Given the description of an element on the screen output the (x, y) to click on. 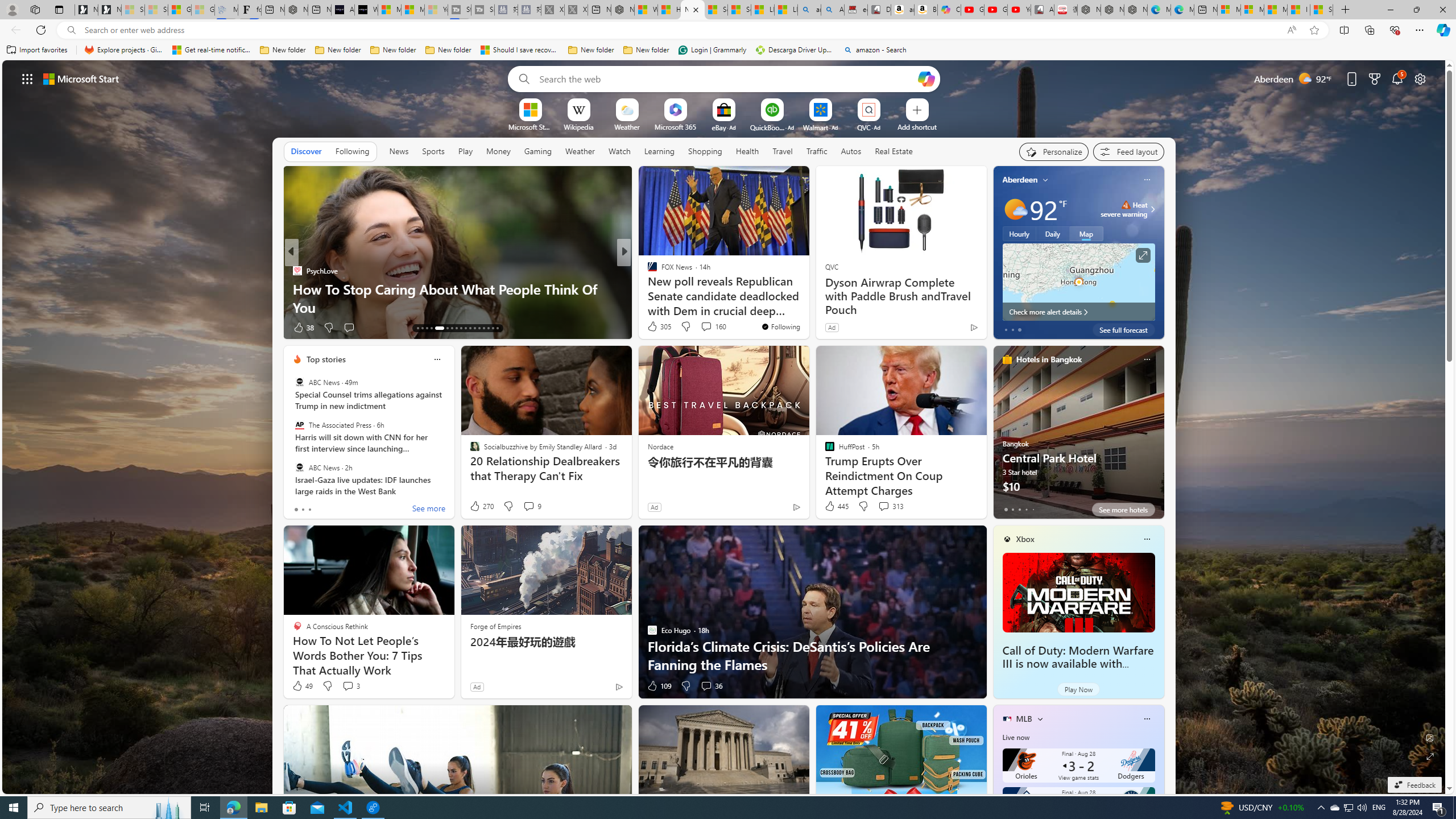
AutomationID: tab-23 (470, 328)
98 Like (652, 327)
Daily (1052, 233)
See more hotels (1123, 509)
Mostly sunny (1014, 208)
49 Like (301, 685)
AutomationID: tab-41 (488, 328)
Click to see more information (1142, 255)
